Given the description of an element on the screen output the (x, y) to click on. 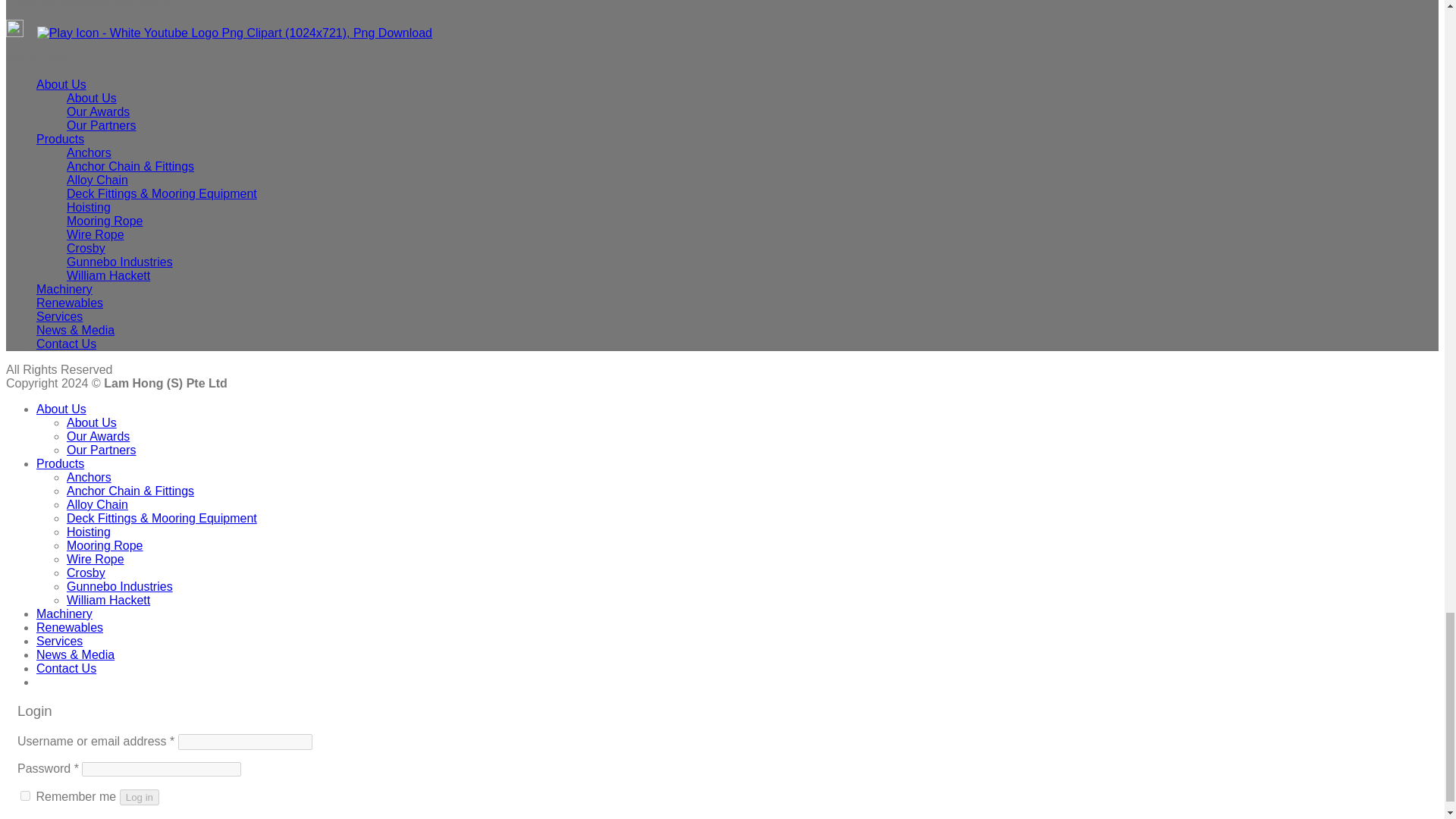
Our Partners (101, 124)
forever (25, 795)
About Us (91, 97)
Anchors (89, 152)
Products (60, 138)
About Us (60, 83)
Our Awards (97, 111)
